Given the description of an element on the screen output the (x, y) to click on. 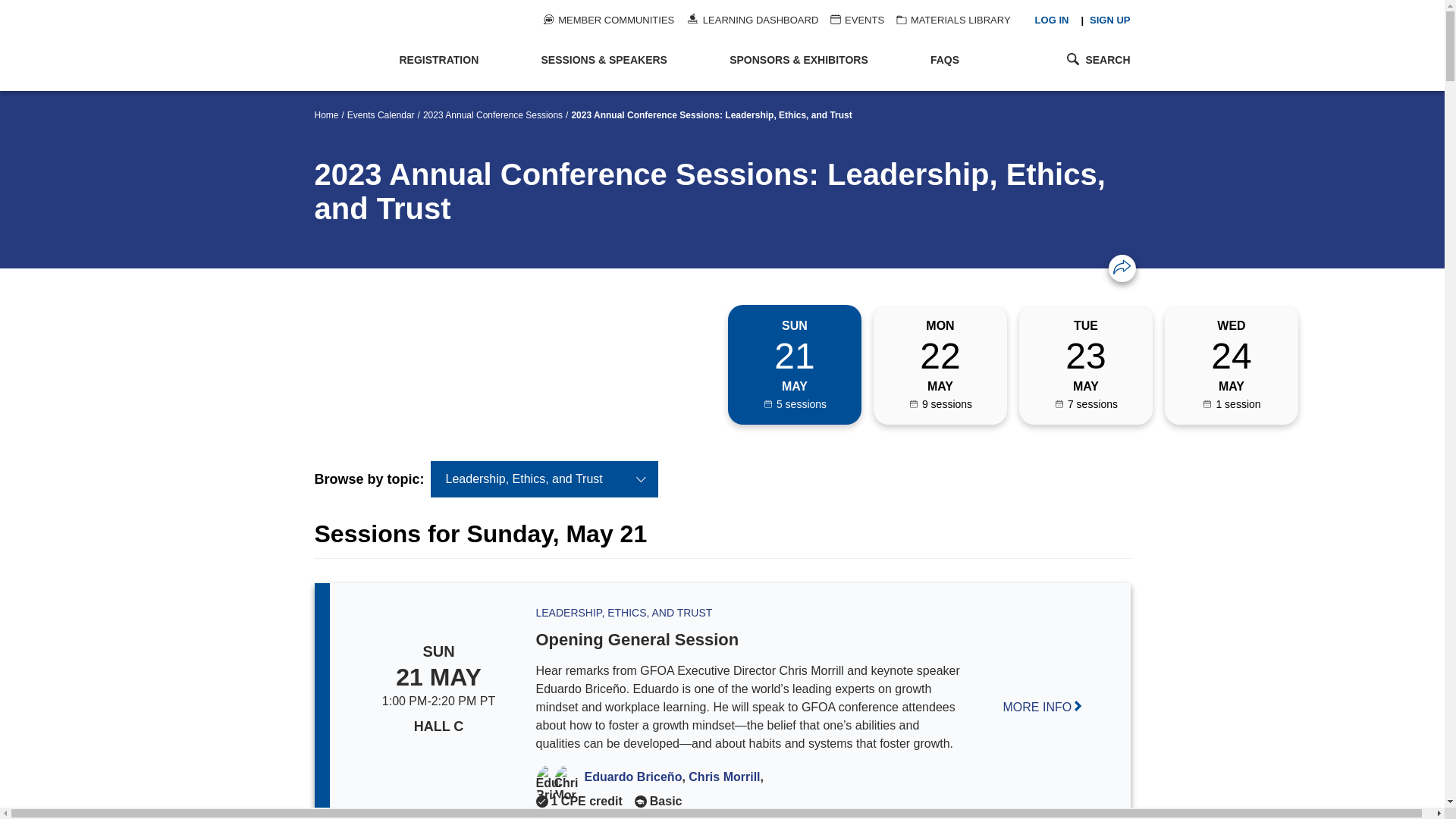
MEMBER COMMUNITIES (608, 19)
FAQS (967, 60)
LOG IN (1051, 19)
REGISTRATION (454, 60)
Share this page (1122, 267)
SEARCH (1074, 59)
EVENTS (856, 19)
SIGN UP (1109, 19)
Home (349, 45)
LEARNING DASHBOARD (751, 19)
MATERIALS LIBRARY (953, 19)
